Given the description of an element on the screen output the (x, y) to click on. 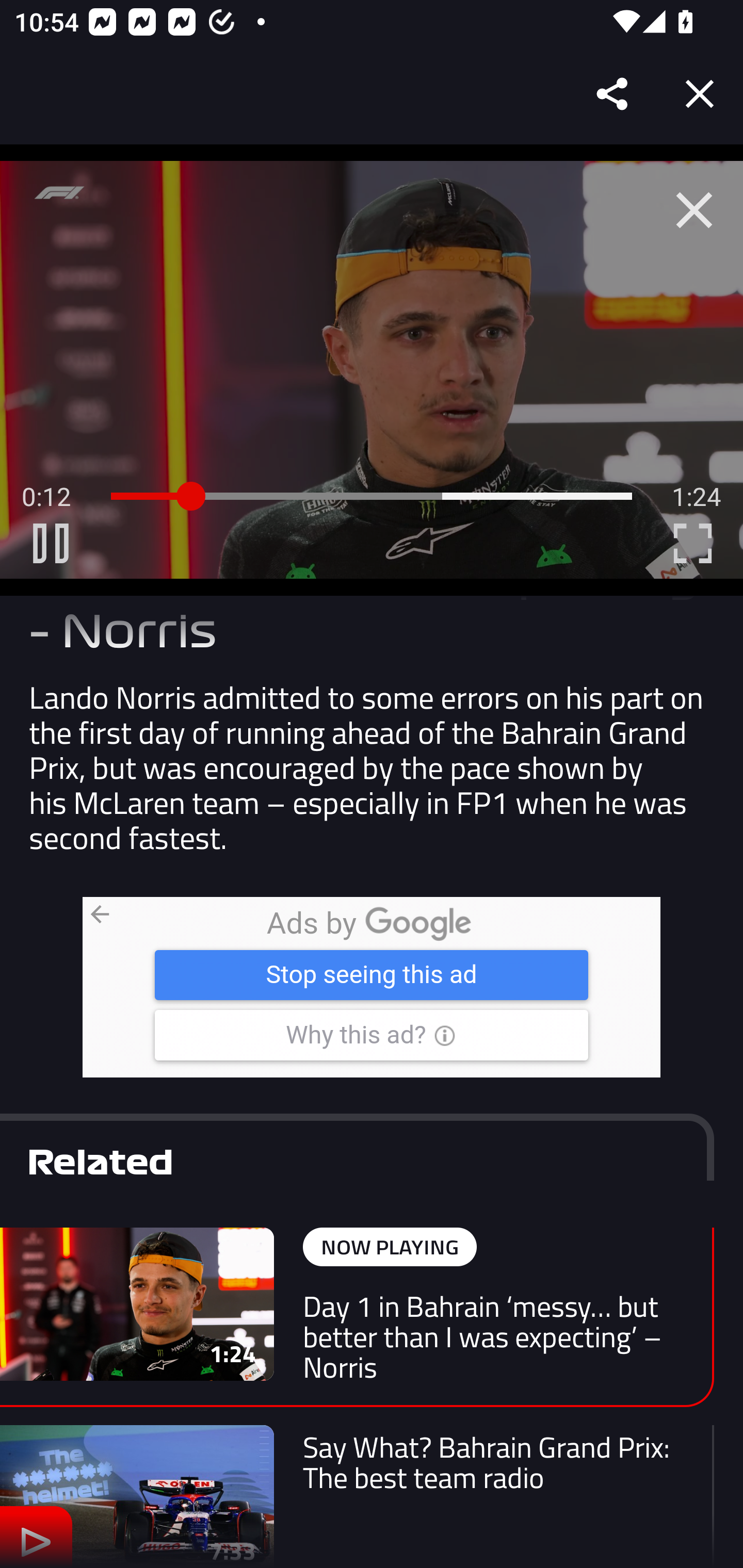
Share (612, 93)
Close (699, 93)
 Close (693, 210)
B Pause (50, 543)
C Enter Fullscreen (692, 543)
